Given the description of an element on the screen output the (x, y) to click on. 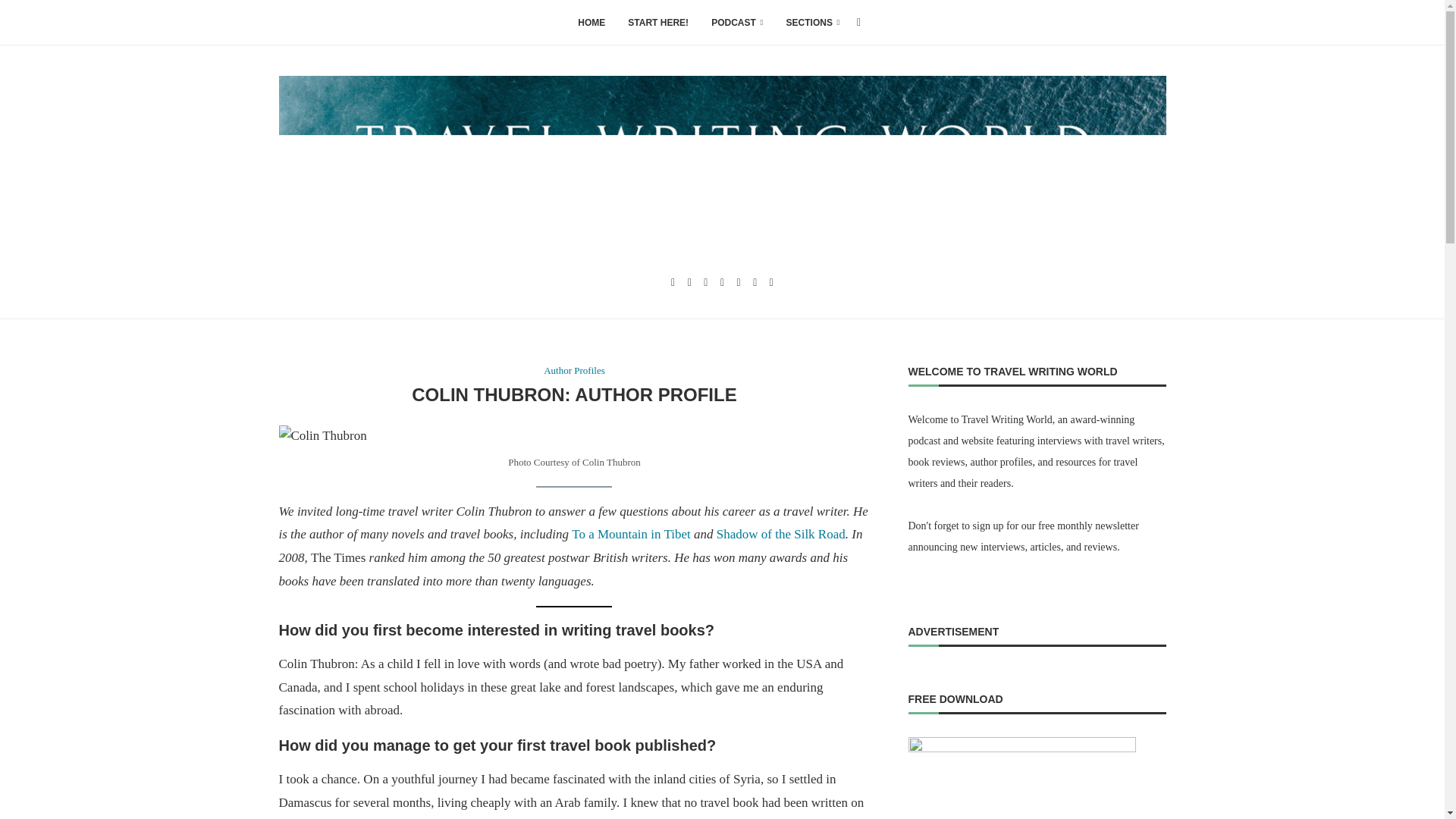
Author Profiles (574, 370)
START HERE! (657, 22)
PODCAST (736, 22)
Shadow of the Silk Road (780, 534)
To a Mountain in Tibet (631, 534)
SECTIONS (813, 22)
